Given the description of an element on the screen output the (x, y) to click on. 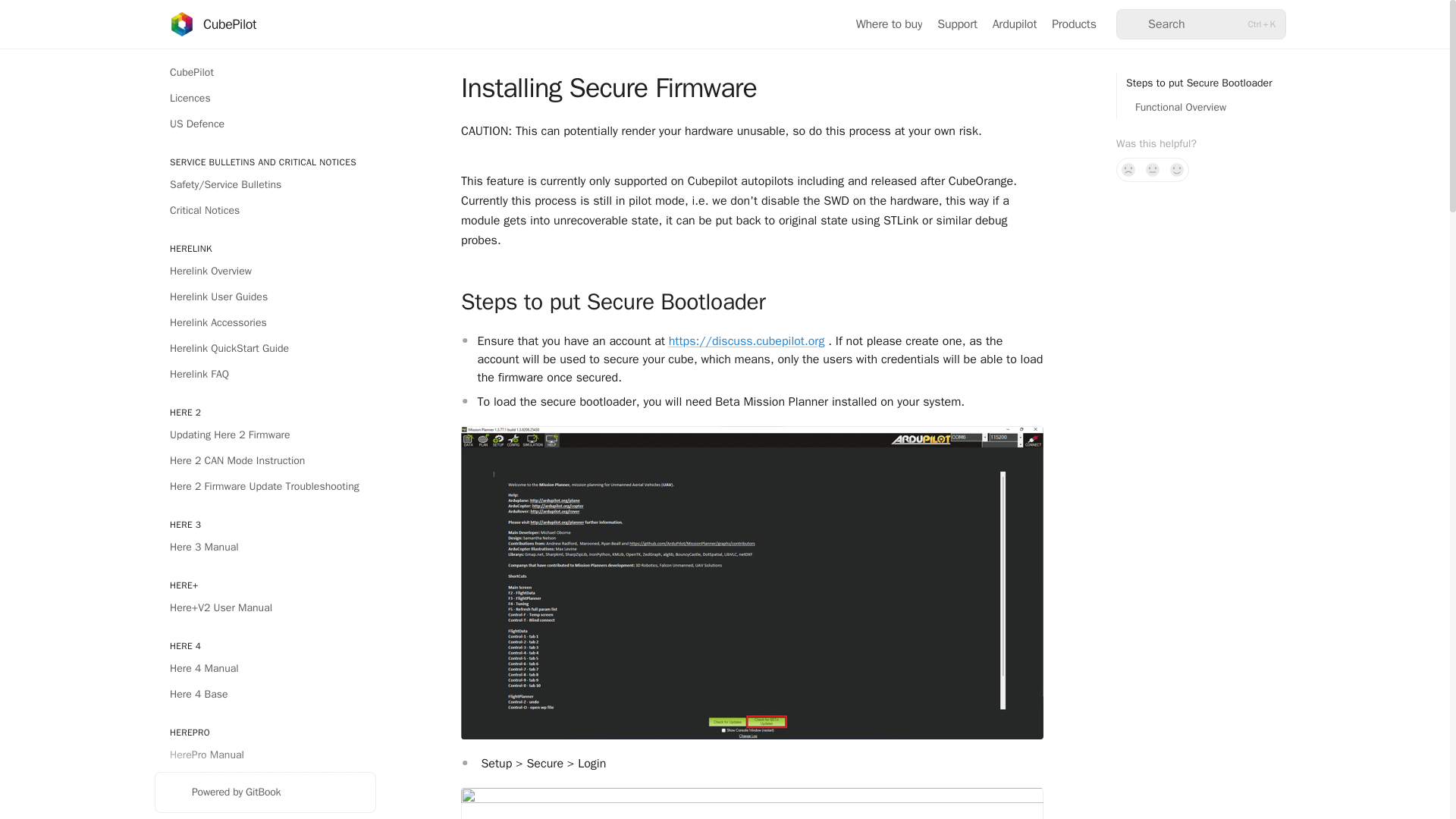
US Defence (264, 124)
Licences (264, 98)
Herelink Accessories (264, 322)
Herelink User Guides (264, 297)
Yes, it was! (1176, 169)
Not sure (1152, 169)
Where to buy (889, 24)
Products (1074, 24)
No (1128, 169)
Herelink Overview (264, 271)
